Given the description of an element on the screen output the (x, y) to click on. 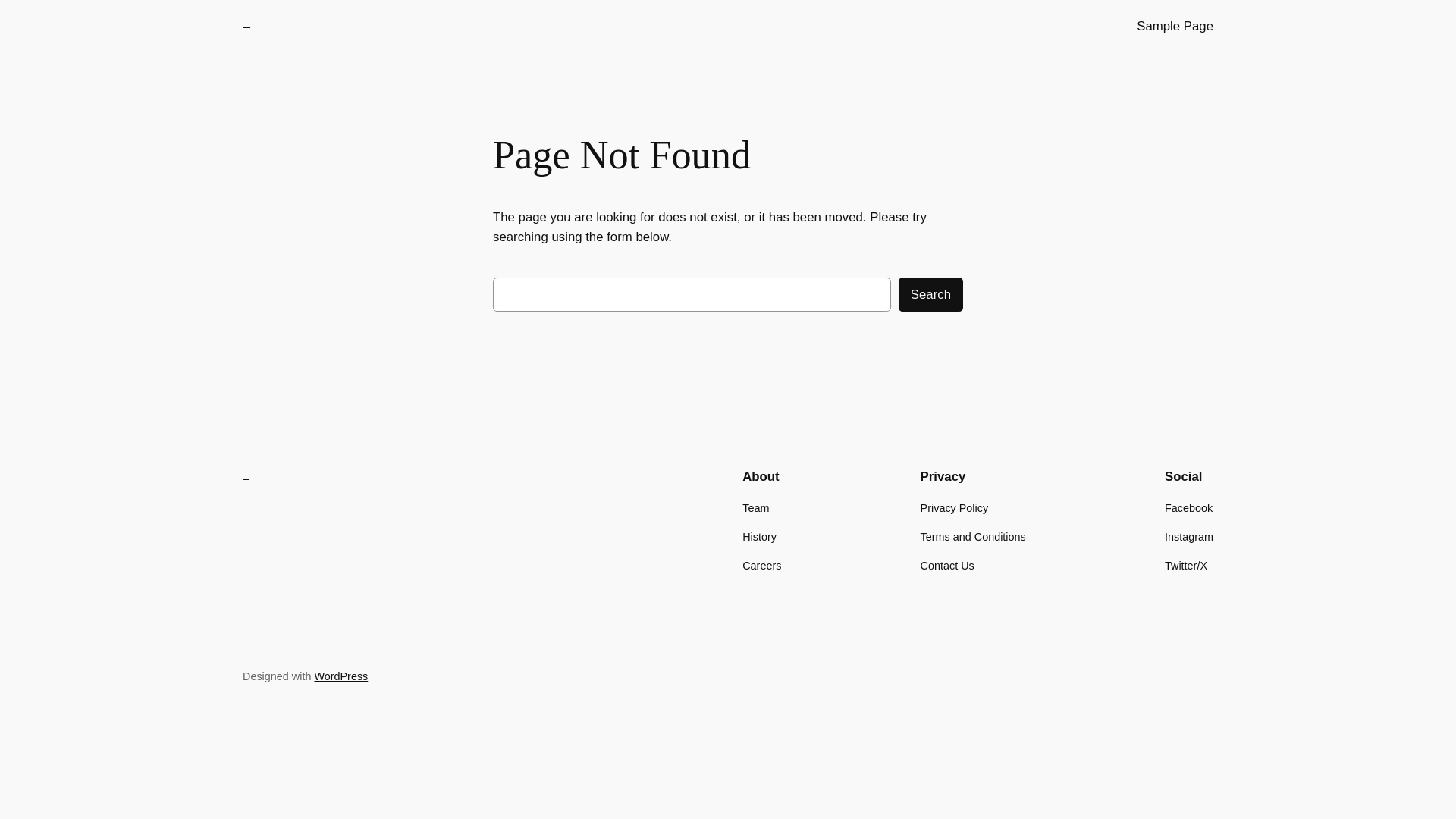
Instagram Element type: text (1188, 536)
Careers Element type: text (761, 565)
Privacy Policy Element type: text (954, 507)
Team Element type: text (755, 507)
Contact Us Element type: text (947, 565)
WordPress Element type: text (340, 676)
Terms and Conditions Element type: text (973, 536)
Twitter/X Element type: text (1185, 565)
History Element type: text (759, 536)
Search Element type: text (930, 294)
Facebook Element type: text (1188, 507)
Sample Page Element type: text (1174, 26)
